Given the description of an element on the screen output the (x, y) to click on. 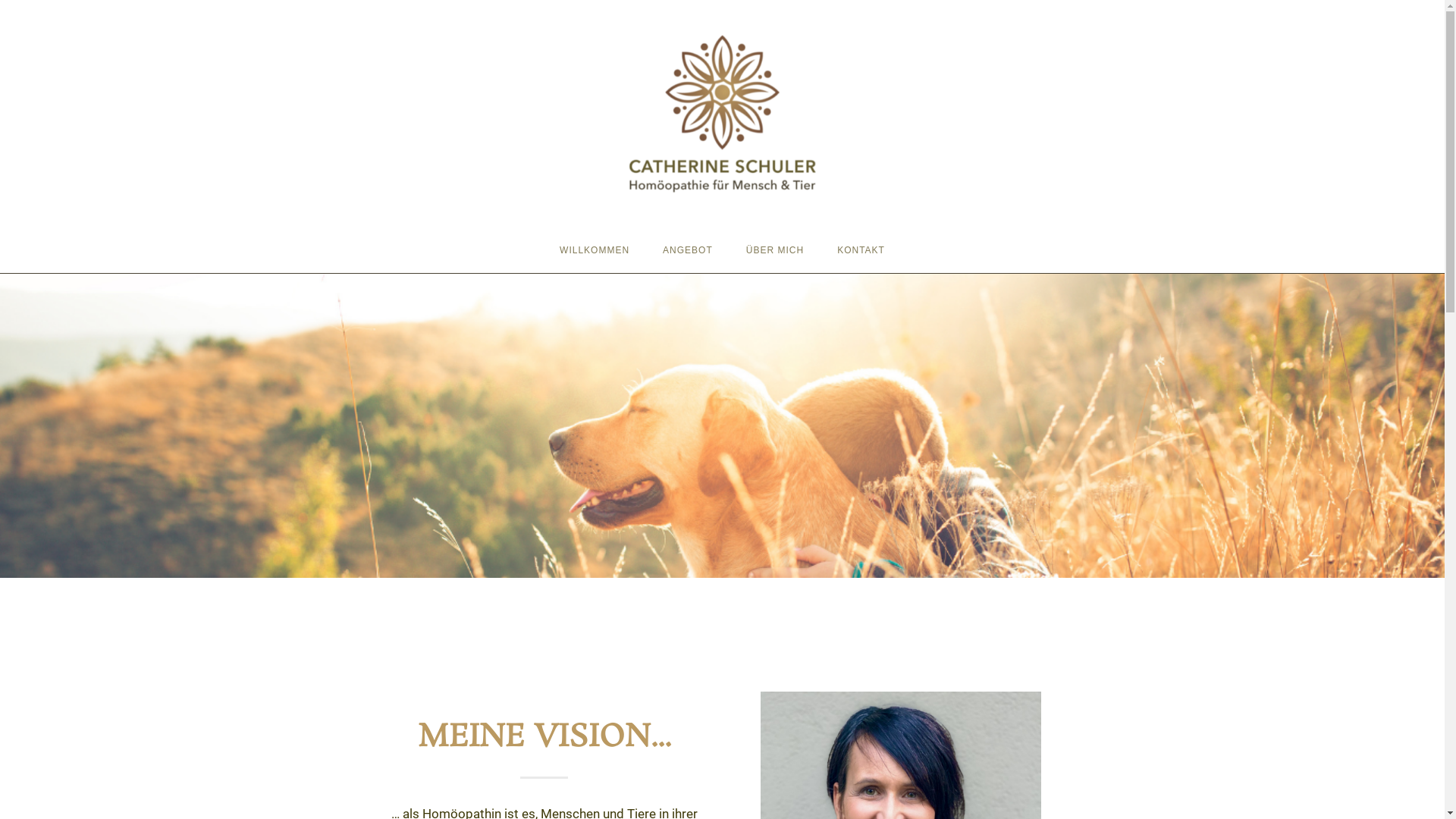
ANGEBOT Element type: text (687, 250)
WILLKOMMEN Element type: text (594, 250)
KONTAKT Element type: text (860, 250)
